Given the description of an element on the screen output the (x, y) to click on. 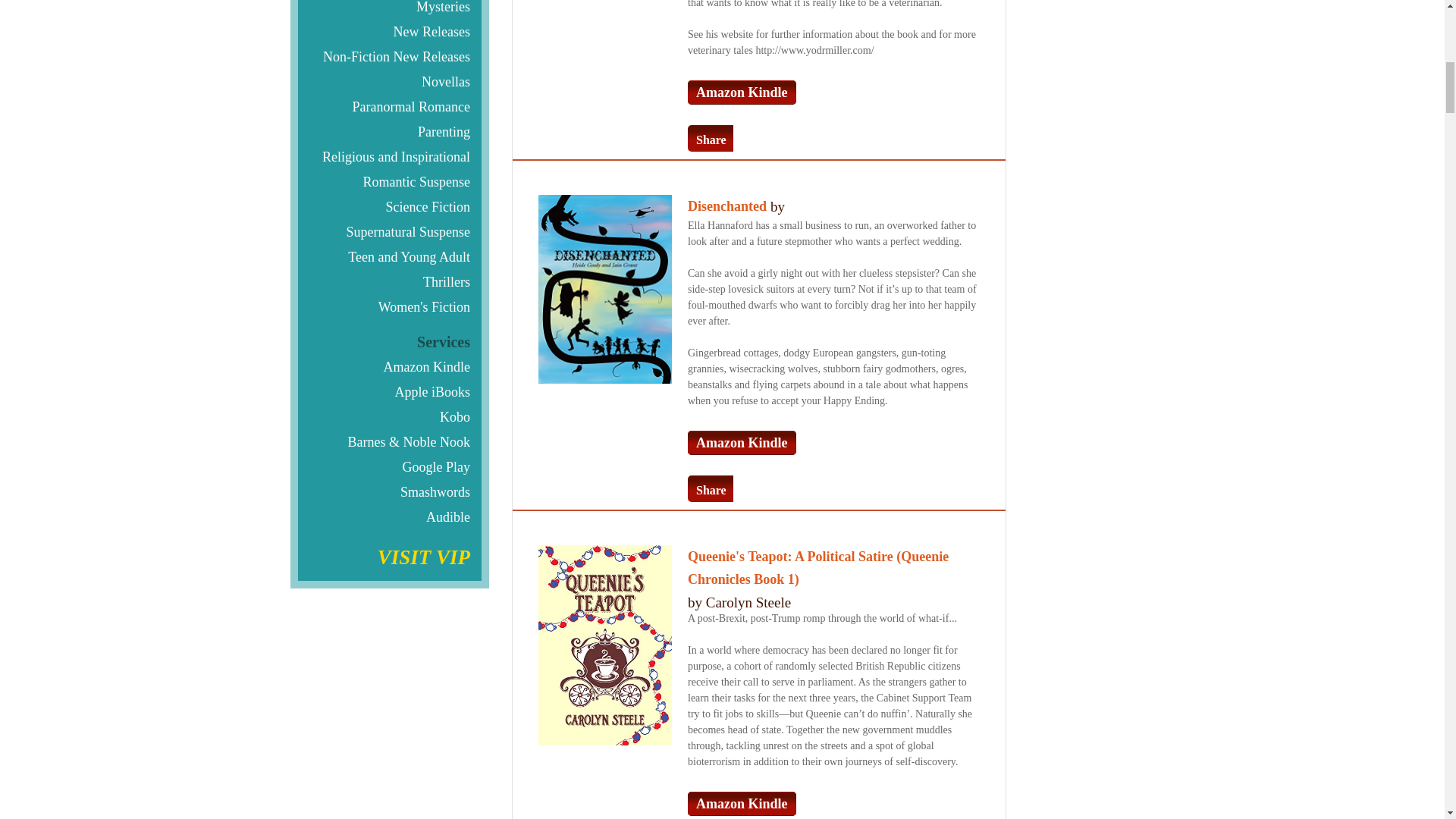
Parenting (389, 131)
Novellas (389, 81)
Paranormal Romance (389, 106)
Religious and Inspirational (389, 156)
Non-Fiction New Releases (389, 56)
Supernatural Suspense (389, 231)
Science Fiction (389, 206)
New Releases (389, 31)
Teen and Young Adult (389, 256)
Thrillers (389, 281)
